Given the description of an element on the screen output the (x, y) to click on. 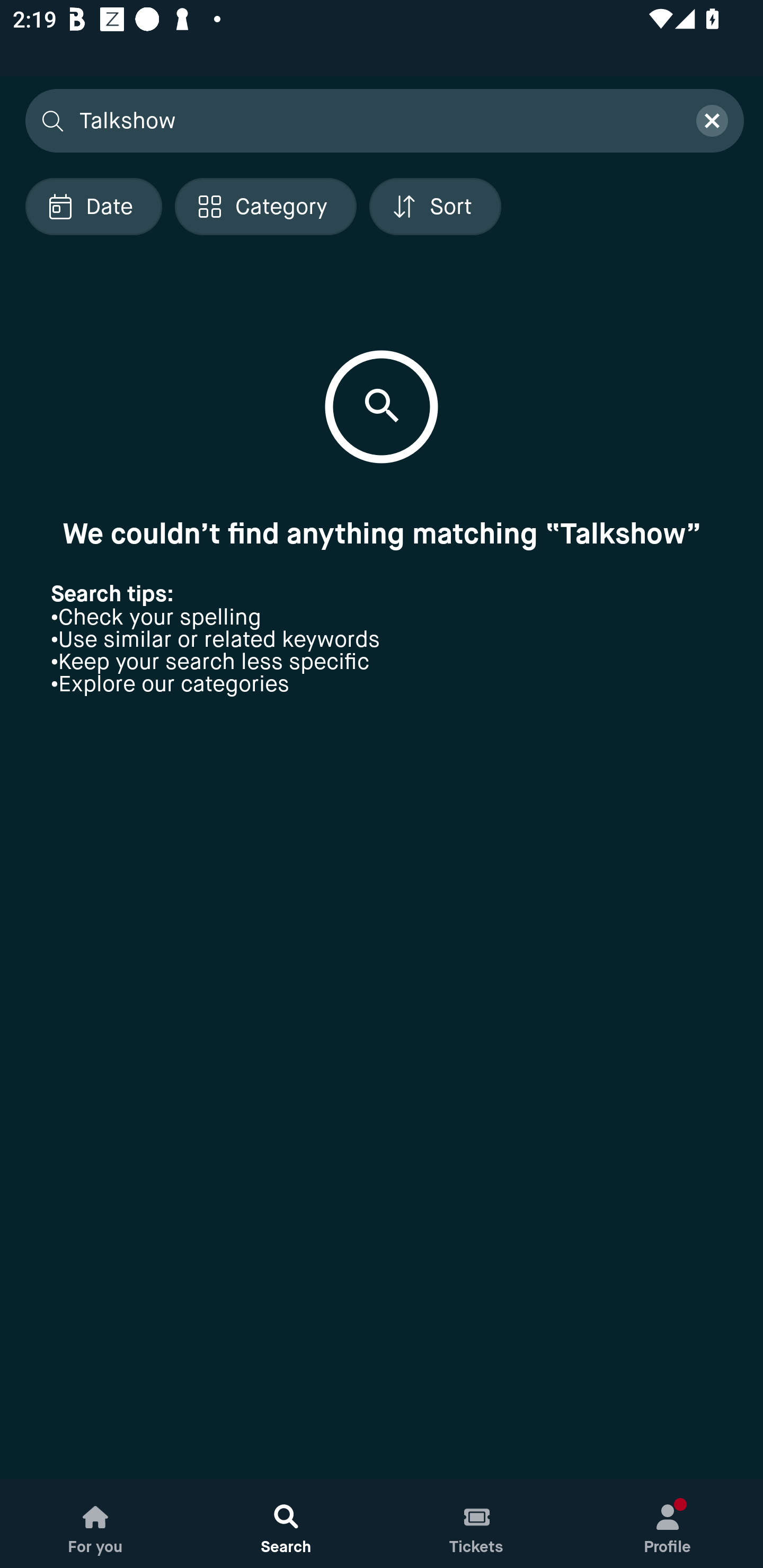
Talkshow (376, 120)
Localized description Date (93, 205)
Localized description Category (265, 205)
Localized description Sort (435, 205)
We couldn’t find anything matching “Talkshow” (381, 532)
For you (95, 1523)
Tickets (476, 1523)
Profile, New notification Profile (667, 1523)
